Given the description of an element on the screen output the (x, y) to click on. 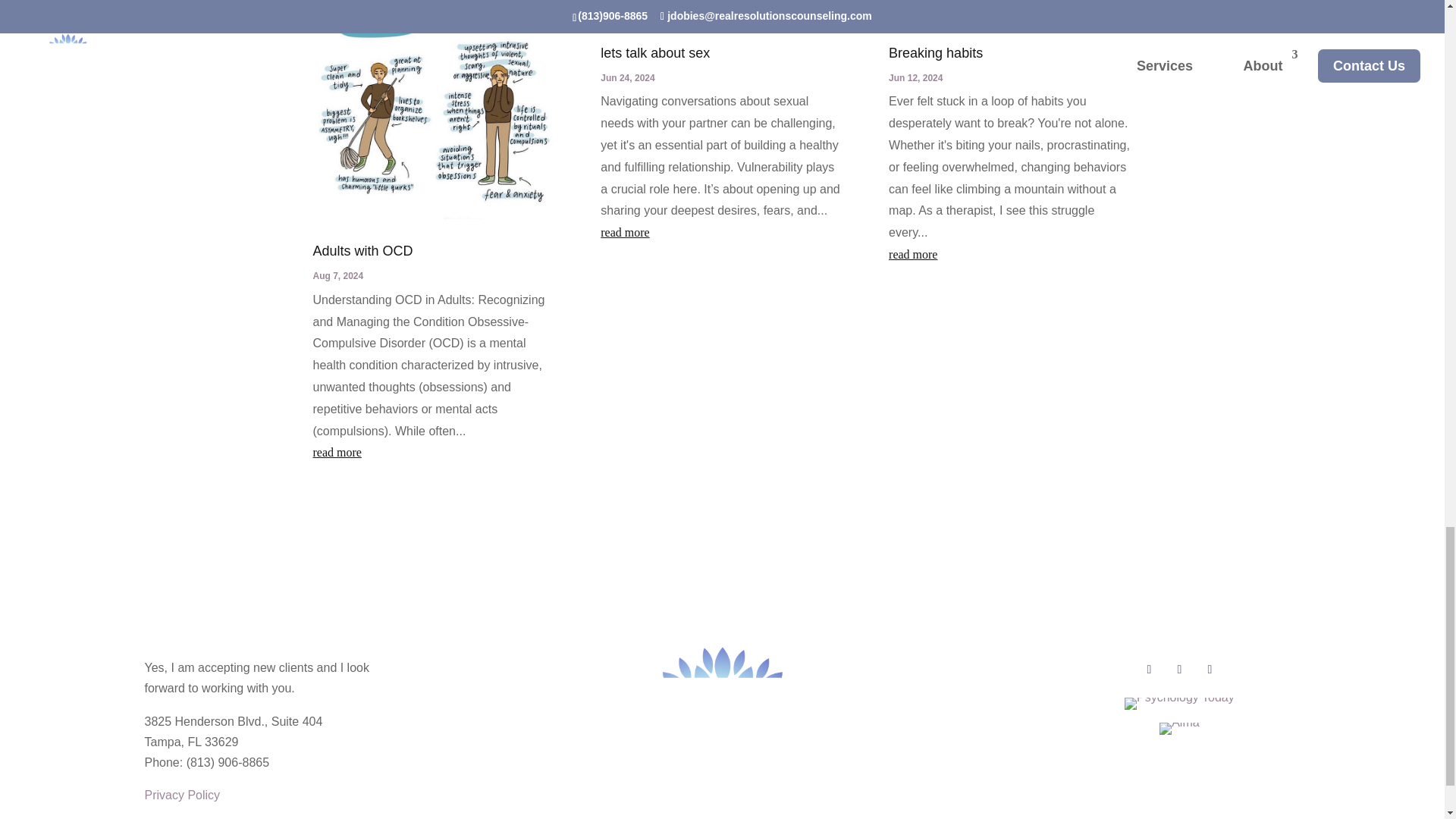
Breaking habits (935, 52)
RealResolutionsCounseling (722, 730)
read more (721, 232)
Follow on Instagram (1179, 669)
psychologytoday1 (1179, 703)
lets talk about sex (654, 52)
Privacy Policy (181, 794)
read more (433, 453)
Follow on LinkedIn (1208, 669)
alma (1178, 728)
